Given the description of an element on the screen output the (x, y) to click on. 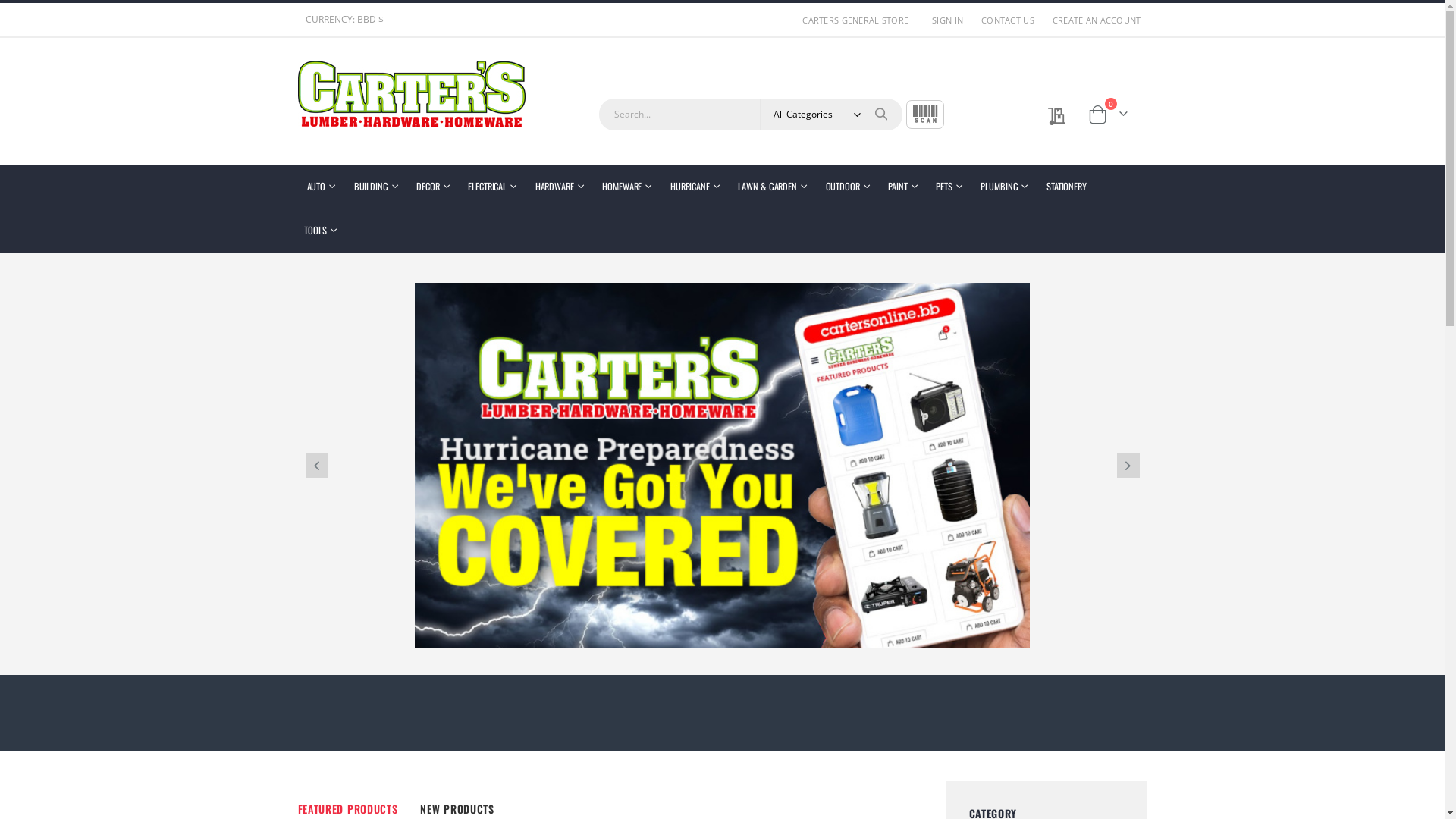
DECOR Element type: text (432, 186)
PAINT Element type: text (901, 186)
SCAN Element type: text (924, 114)
CREATE AN ACCOUNT Element type: text (1093, 20)
BUILDING Element type: text (376, 186)
AUTO Element type: text (320, 186)
NEW PRODUCTS Element type: text (456, 808)
HARDWARE Element type: text (559, 186)
HURRICANE Element type: text (694, 186)
STATIONERY Element type: text (1066, 186)
SIGN IN Element type: text (944, 20)
My Quote Element type: text (1050, 115)
ELECTRICAL Element type: text (491, 186)
FEATURED PRODUCTS Element type: text (347, 808)
CONTACT US Element type: text (1004, 20)
OUTDOOR Element type: text (847, 186)
HOMEWARE Element type: text (626, 186)
Cart
0 Element type: text (1114, 114)
TOOLS Element type: text (319, 230)
LAWN & GARDEN Element type: text (771, 186)
Search Element type: text (881, 113)
PLUMBING Element type: text (1003, 186)
PETS Element type: text (948, 186)
